Given the description of an element on the screen output the (x, y) to click on. 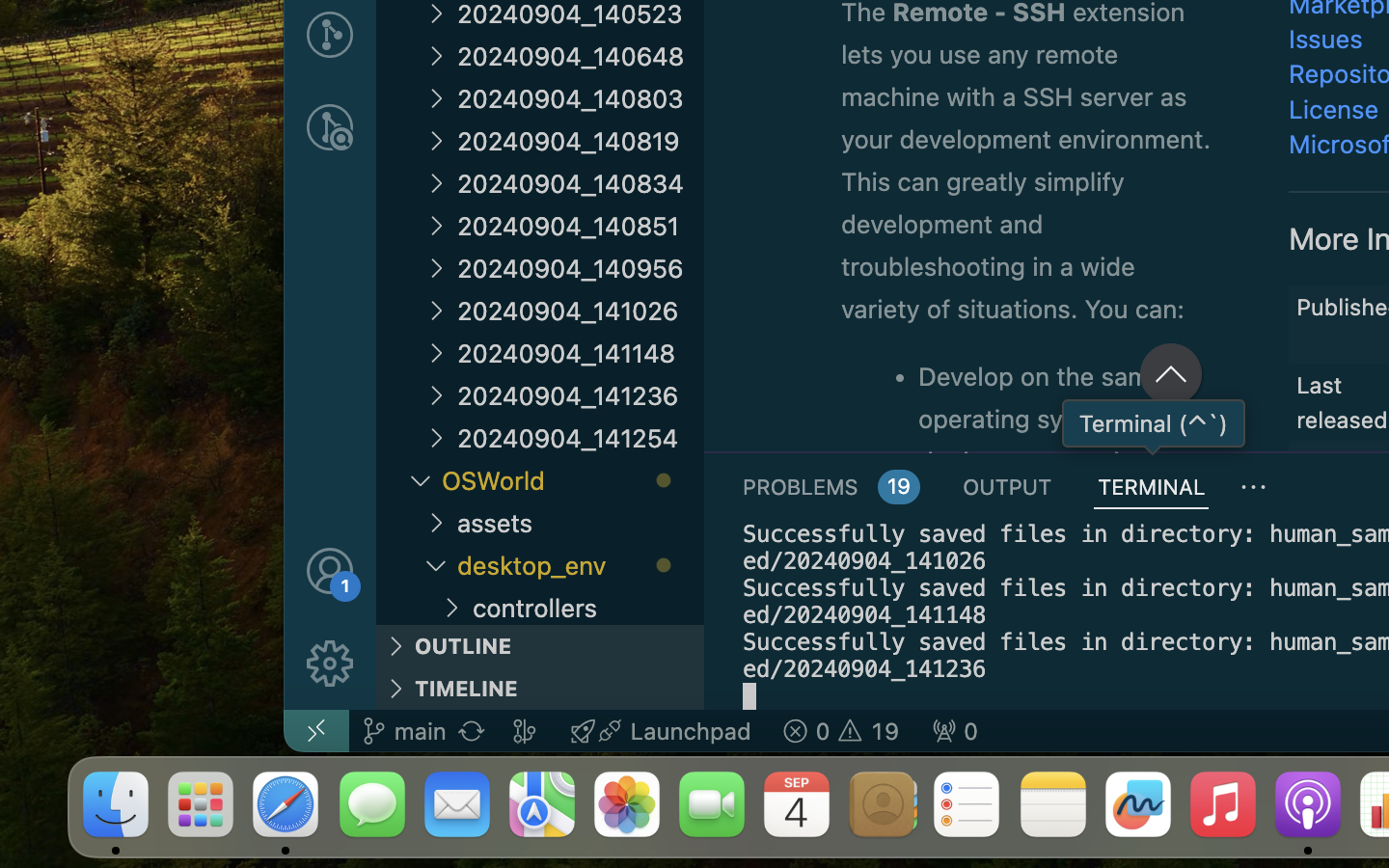
 Element type: AXGroup (1253, 487)
 Element type: AXStaticText (435, 310)
